Given the description of an element on the screen output the (x, y) to click on. 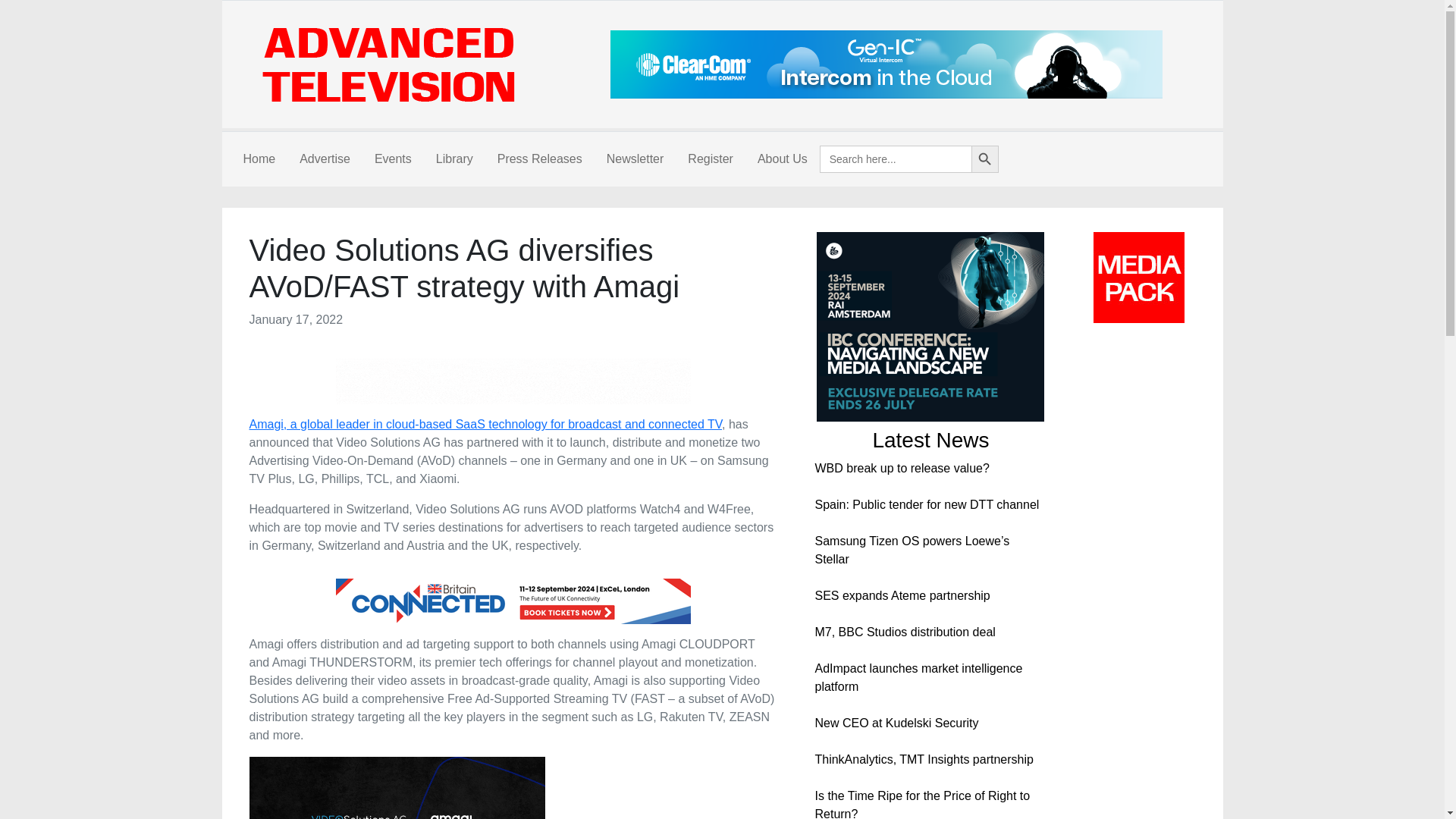
Library (453, 158)
WBD break up to release value? (900, 468)
Search Button (984, 158)
Newsletter (635, 158)
Press Releases (539, 158)
Advertise (324, 158)
Spain: Public tender for new DTT channel (926, 504)
Home (258, 158)
About Us (782, 158)
Register (710, 158)
Events (392, 158)
